Given the description of an element on the screen output the (x, y) to click on. 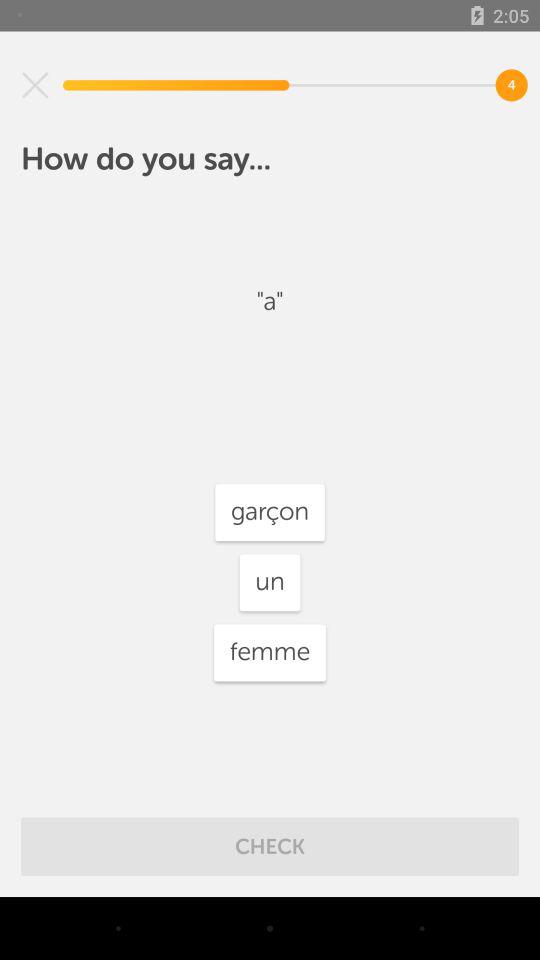
turn off the femme icon (269, 652)
